Given the description of an element on the screen output the (x, y) to click on. 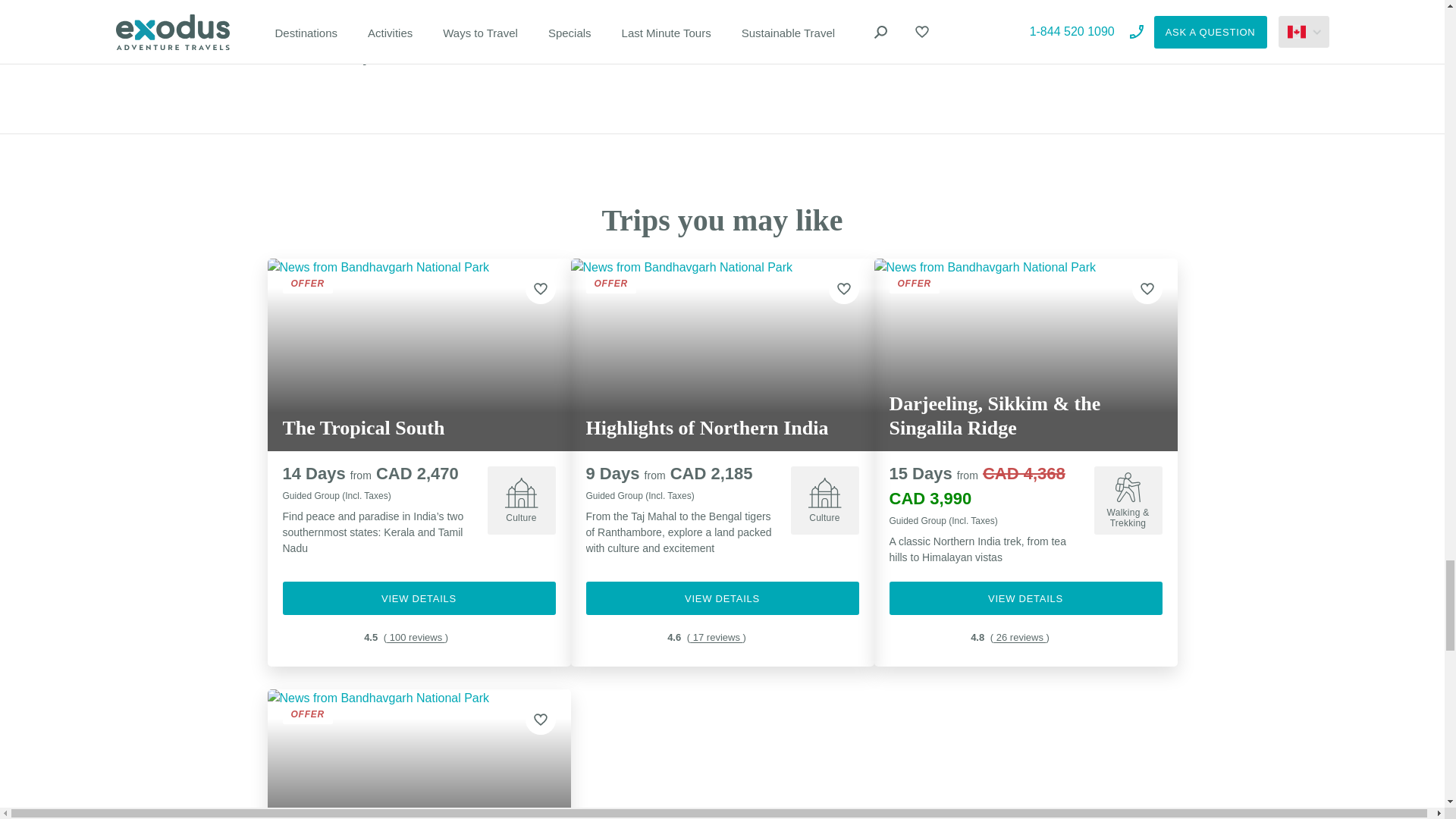
Share by Twitter (391, 58)
Share by Email (337, 58)
